Given the description of an element on the screen output the (x, y) to click on. 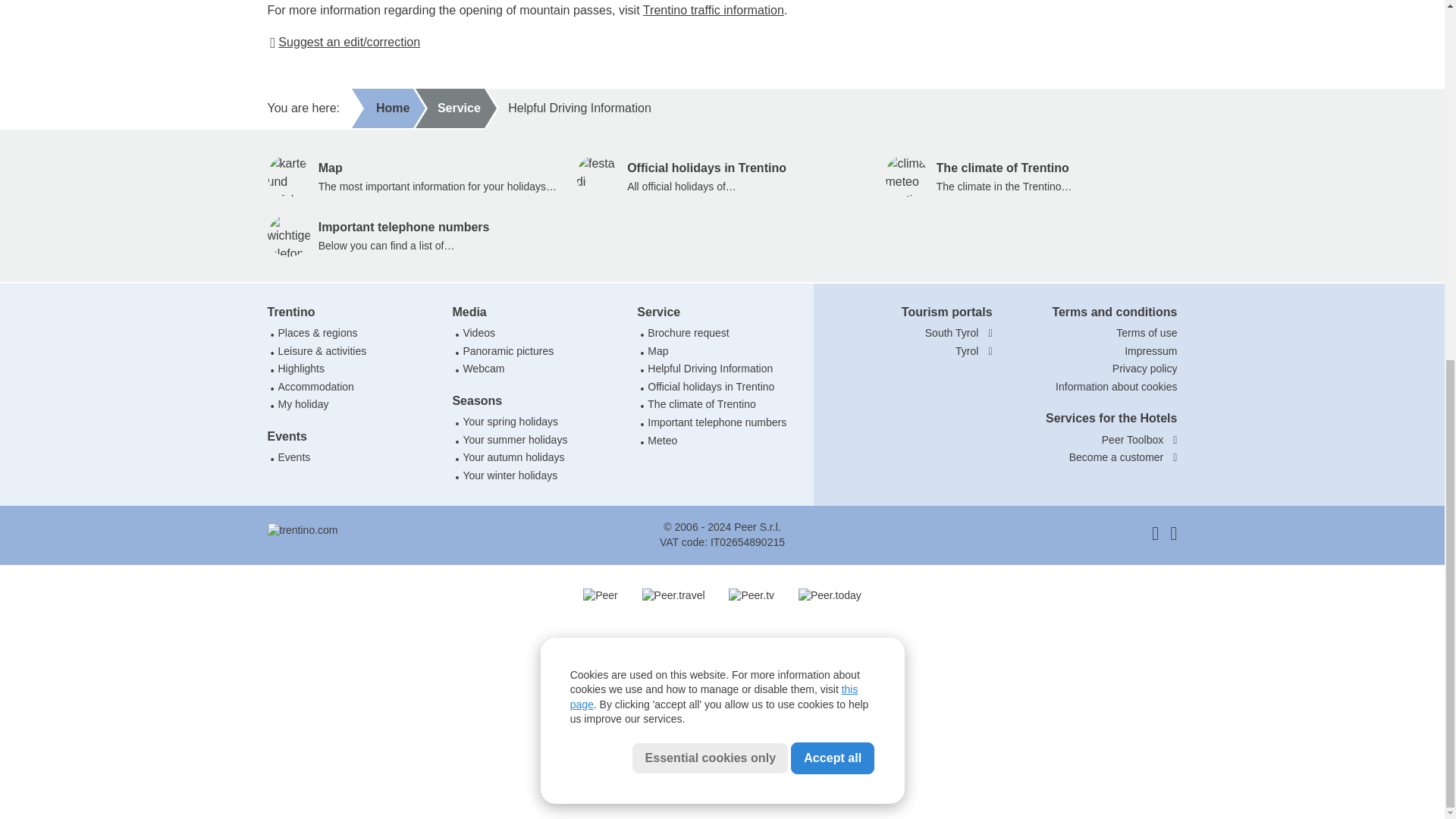
Trentino traffic information (713, 9)
Wichtige Telefonnummern Handy (287, 235)
Karte und Anfahrt Trentino (287, 175)
Clima e meteo del Trentino (906, 175)
